Given the description of an element on the screen output the (x, y) to click on. 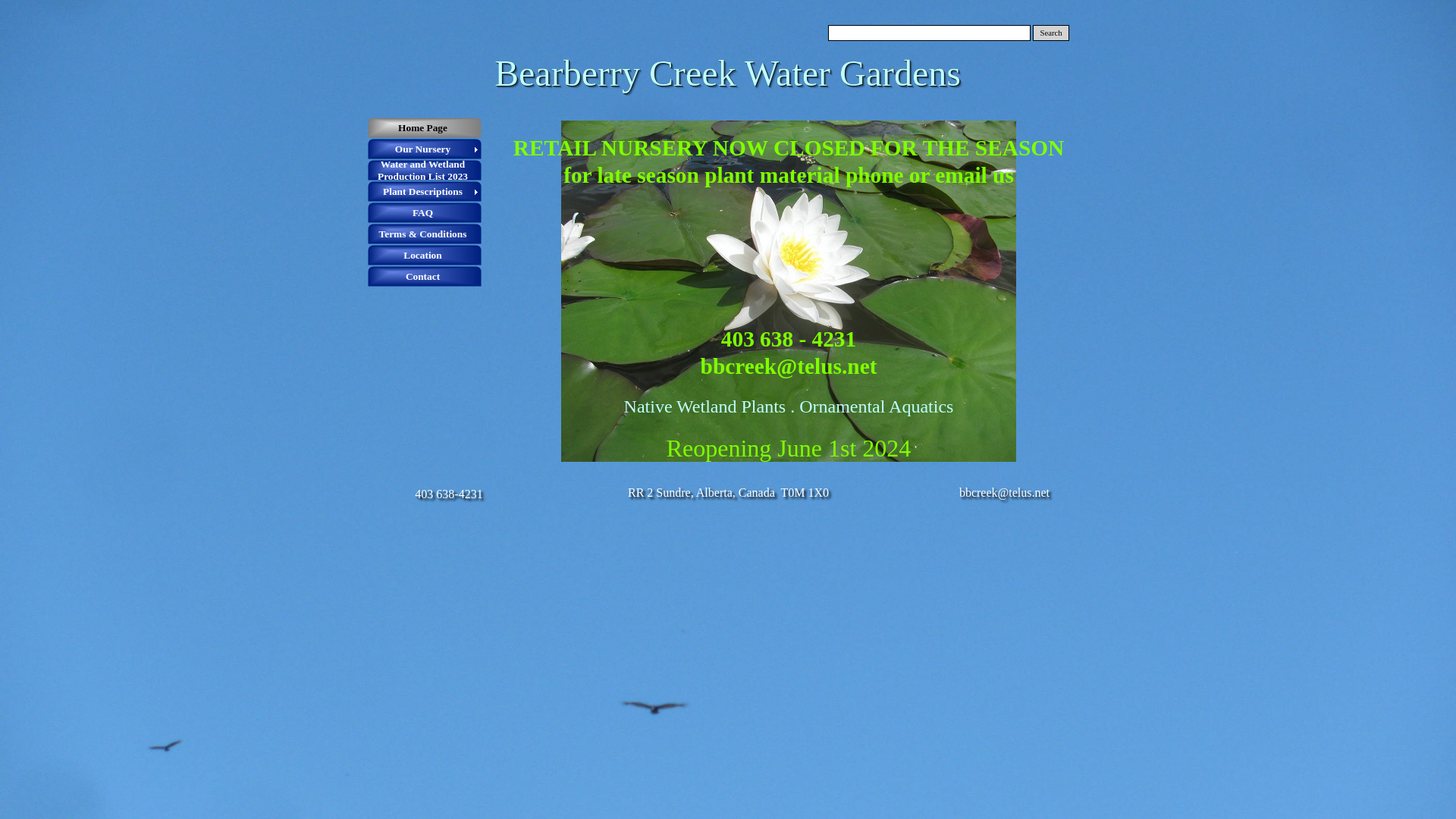
FAQ Element type: text (424, 212)
Home Page Element type: text (424, 127)
Contact Element type: text (424, 276)
Water and Wetland Production List 2023 Element type: text (424, 170)
Location Element type: text (424, 255)
Search Element type: text (1050, 32)
Terms & Conditions Element type: text (424, 233)
